Given the description of an element on the screen output the (x, y) to click on. 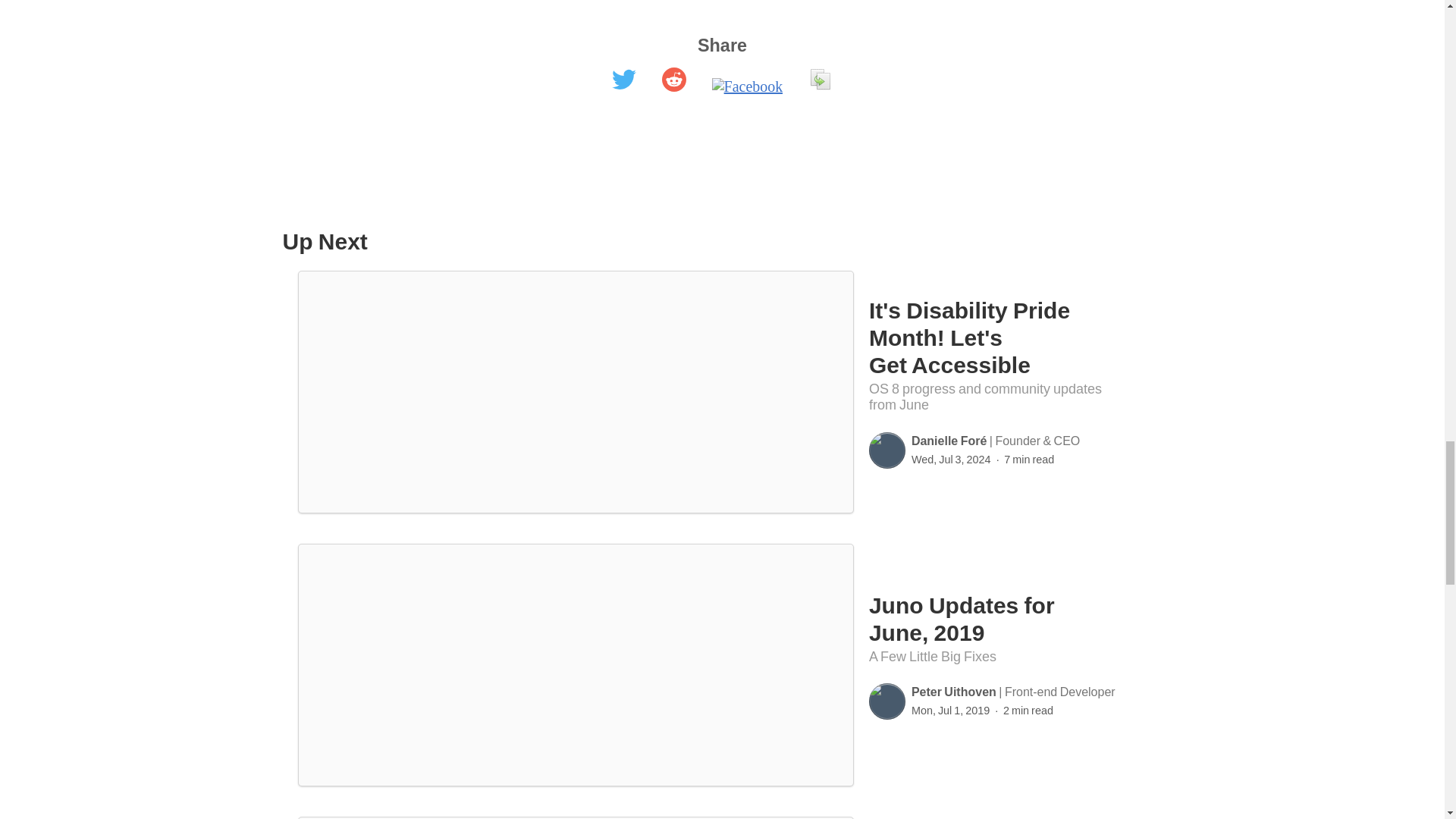
Estimated read time (1022, 710)
Estimated read time (1023, 459)
Facebook (747, 86)
